Given the description of an element on the screen output the (x, y) to click on. 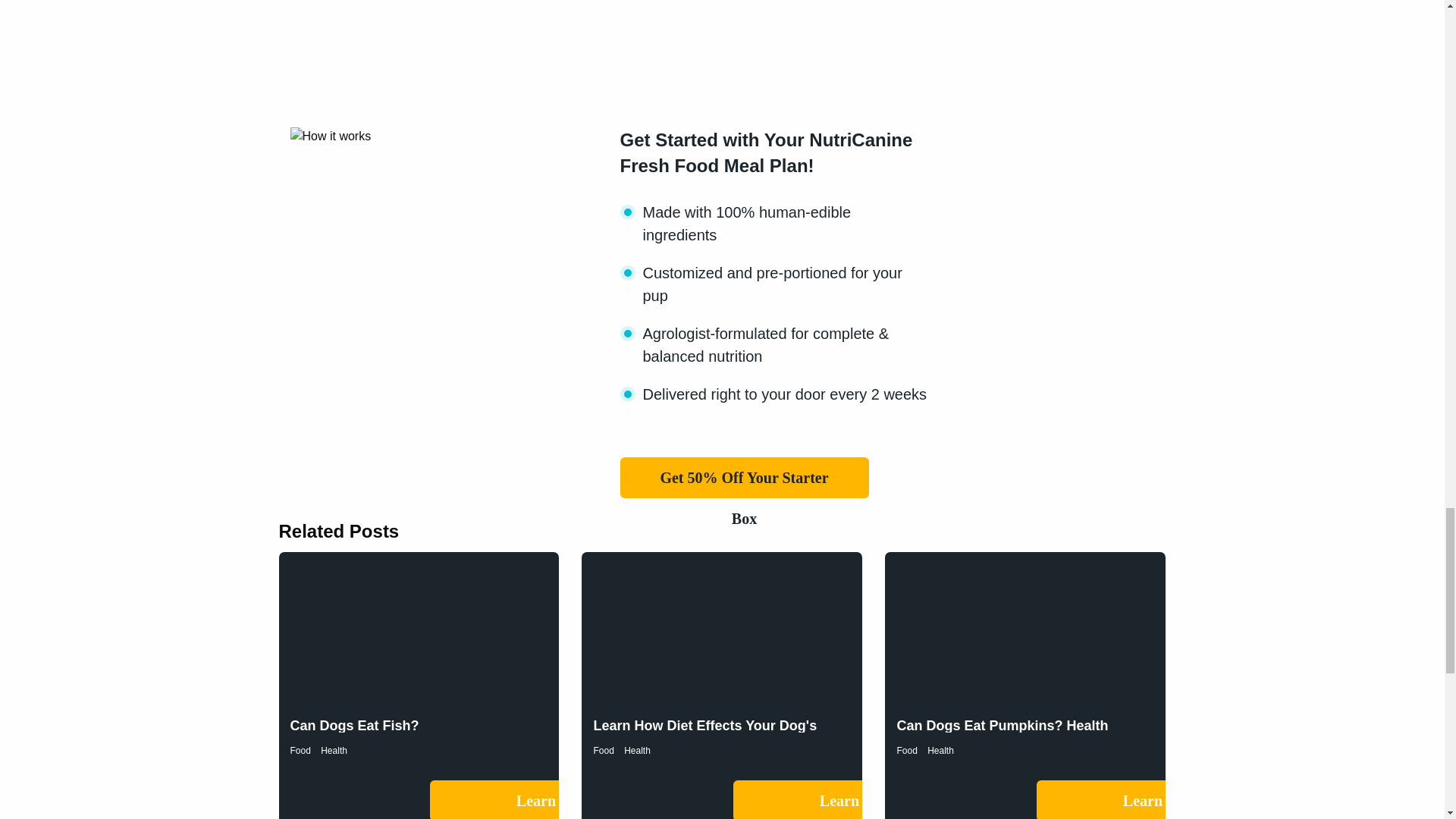
Health (940, 750)
Can Dogs Eat Pumpkins? Health Benefits of Pumpkin for Dogs (1002, 732)
Food (602, 750)
Can Dogs Eat Fish? (354, 725)
Learn more (1160, 799)
Learn more (857, 799)
Learn more (553, 799)
Food (299, 750)
Learn How Diet Effects Your Dog's Behaviour (704, 732)
Health (333, 750)
Food (906, 750)
Health (637, 750)
